Given the description of an element on the screen output the (x, y) to click on. 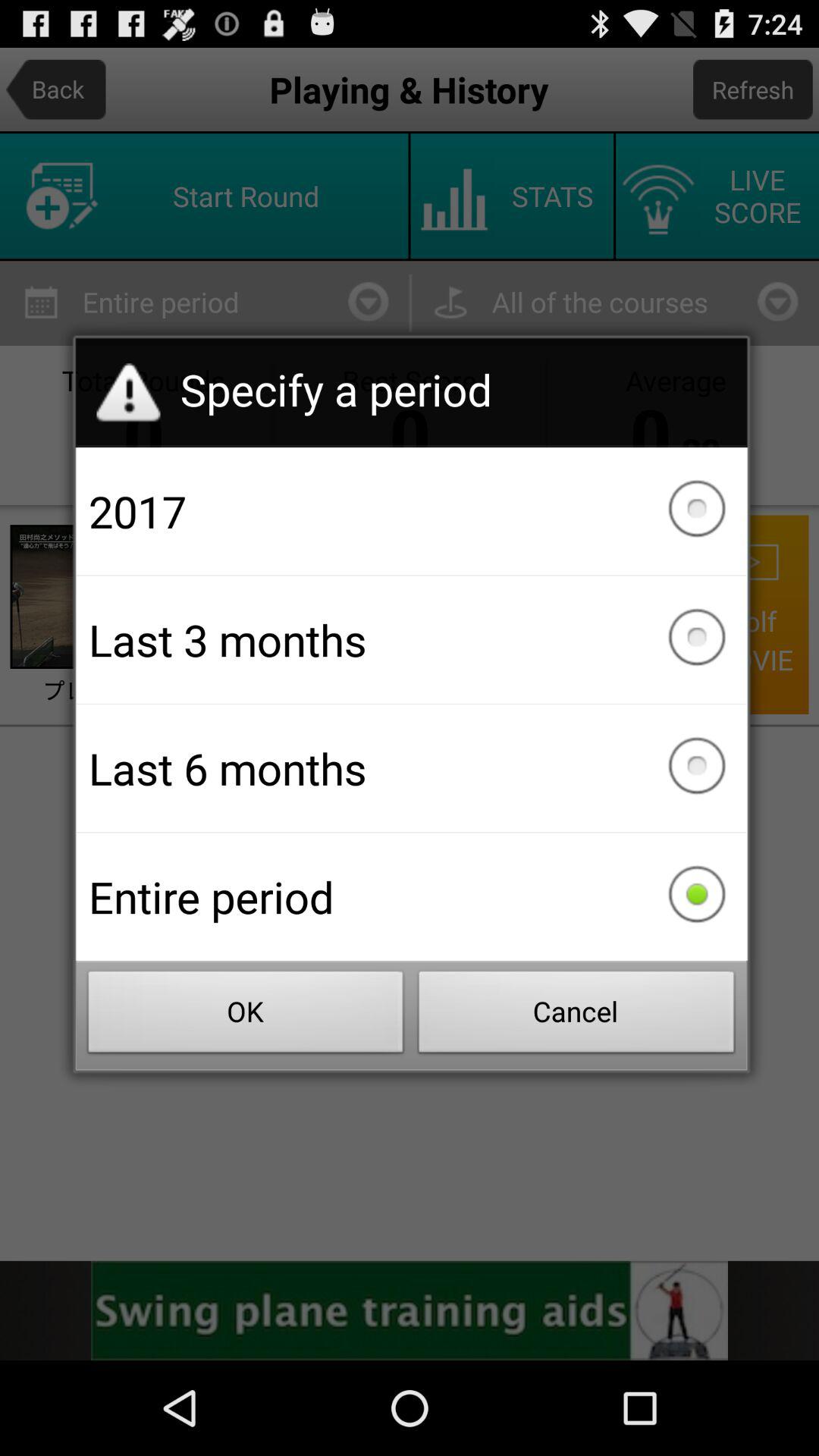
turn off the cancel item (576, 1016)
